Given the description of an element on the screen output the (x, y) to click on. 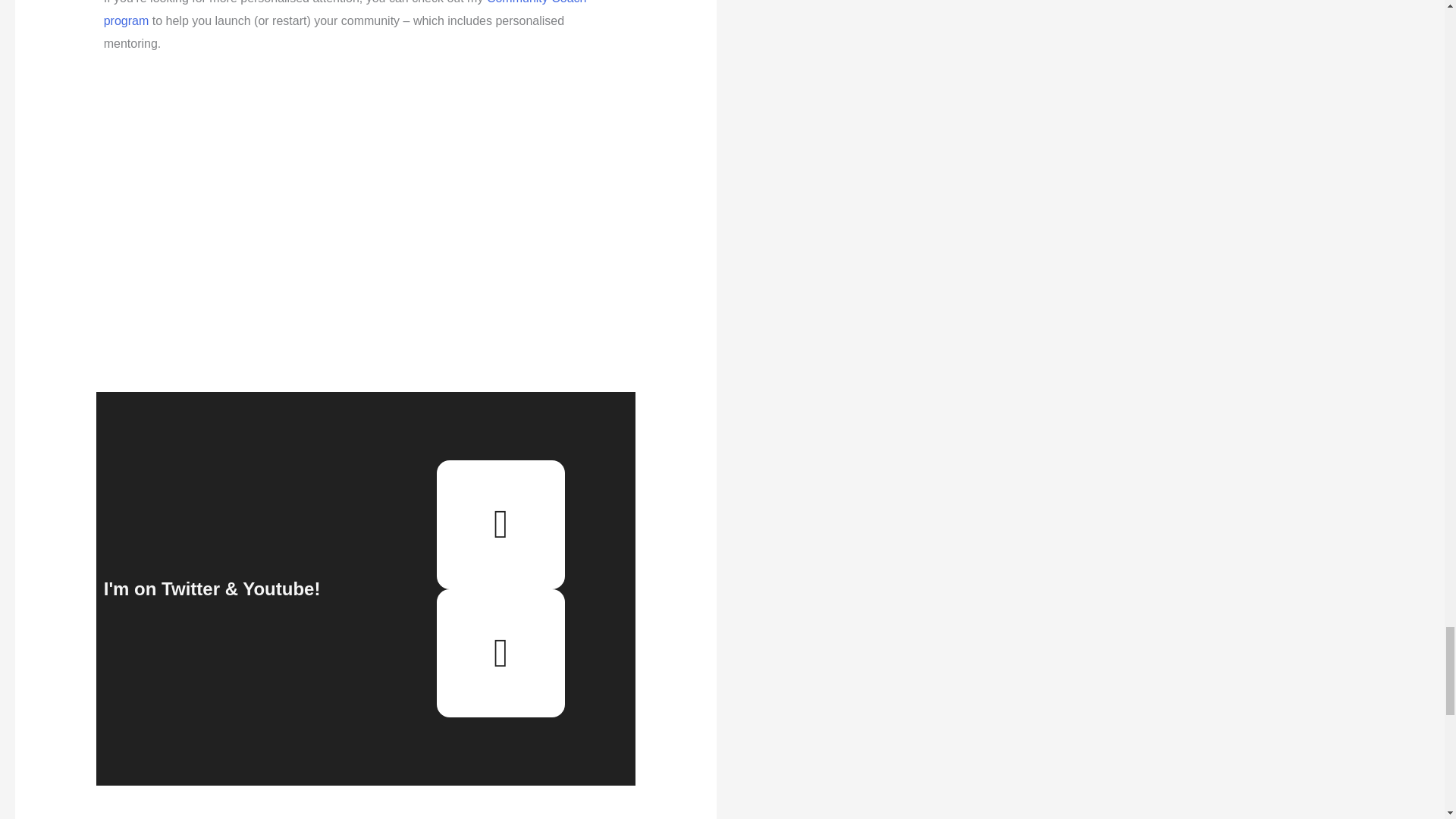
Community Coach program (344, 13)
Twitter (501, 524)
Youtube (501, 653)
